Given the description of an element on the screen output the (x, y) to click on. 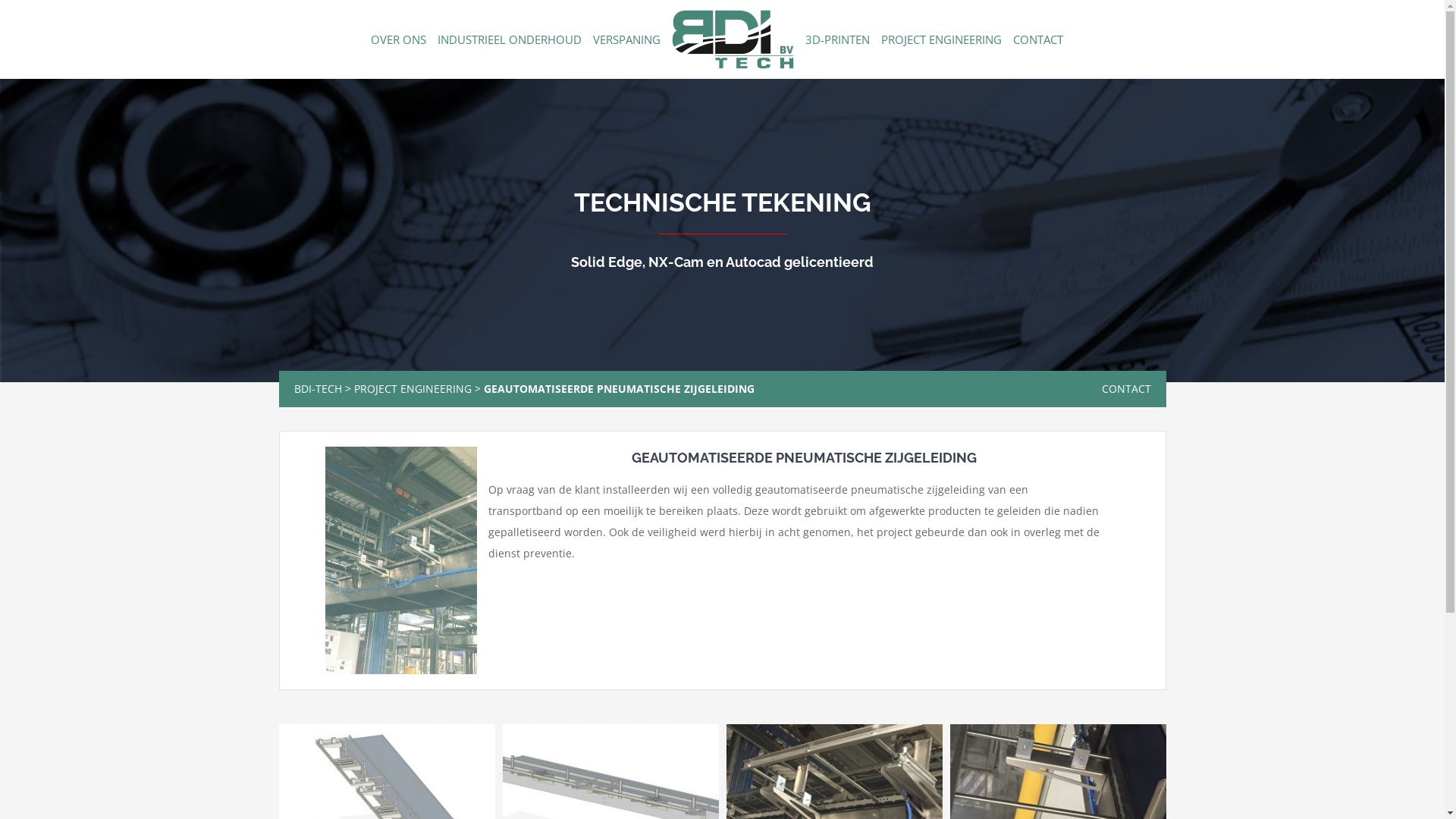
CONTACT Element type: text (1125, 388)
3D-PRINTEN Element type: text (837, 39)
CONTACT Element type: text (1038, 39)
VERSPANING Element type: text (626, 39)
OVER ONS Element type: text (397, 39)
PROJECT ENGINEERING Element type: text (941, 39)
INDUSTRIEEL ONDERHOUD Element type: text (508, 39)
